Given the description of an element on the screen output the (x, y) to click on. 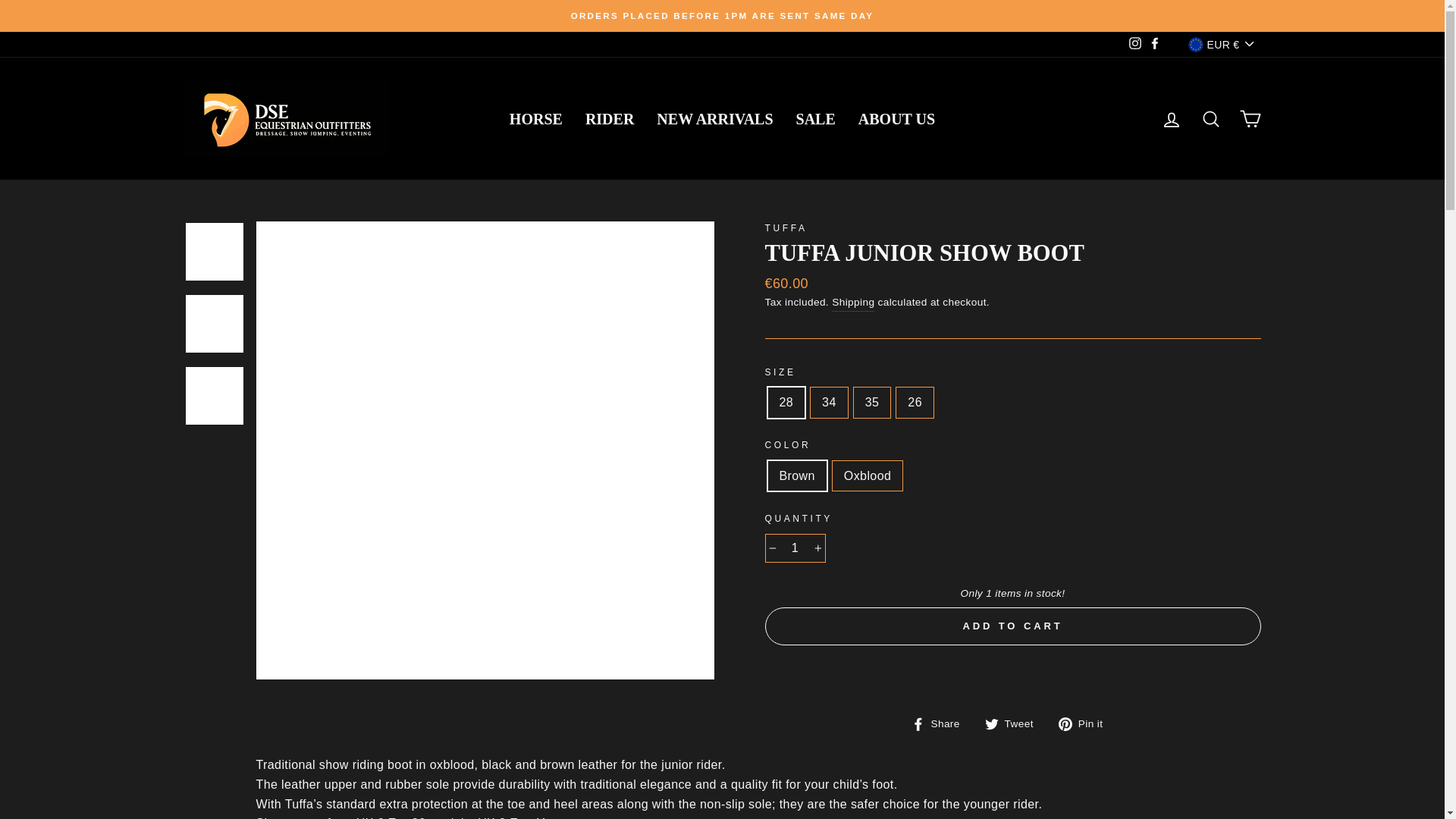
Share on Facebook (941, 723)
Tuffa (785, 227)
Tweet on Twitter (1015, 723)
Pin on Pinterest (1085, 723)
1 (794, 547)
